Given the description of an element on the screen output the (x, y) to click on. 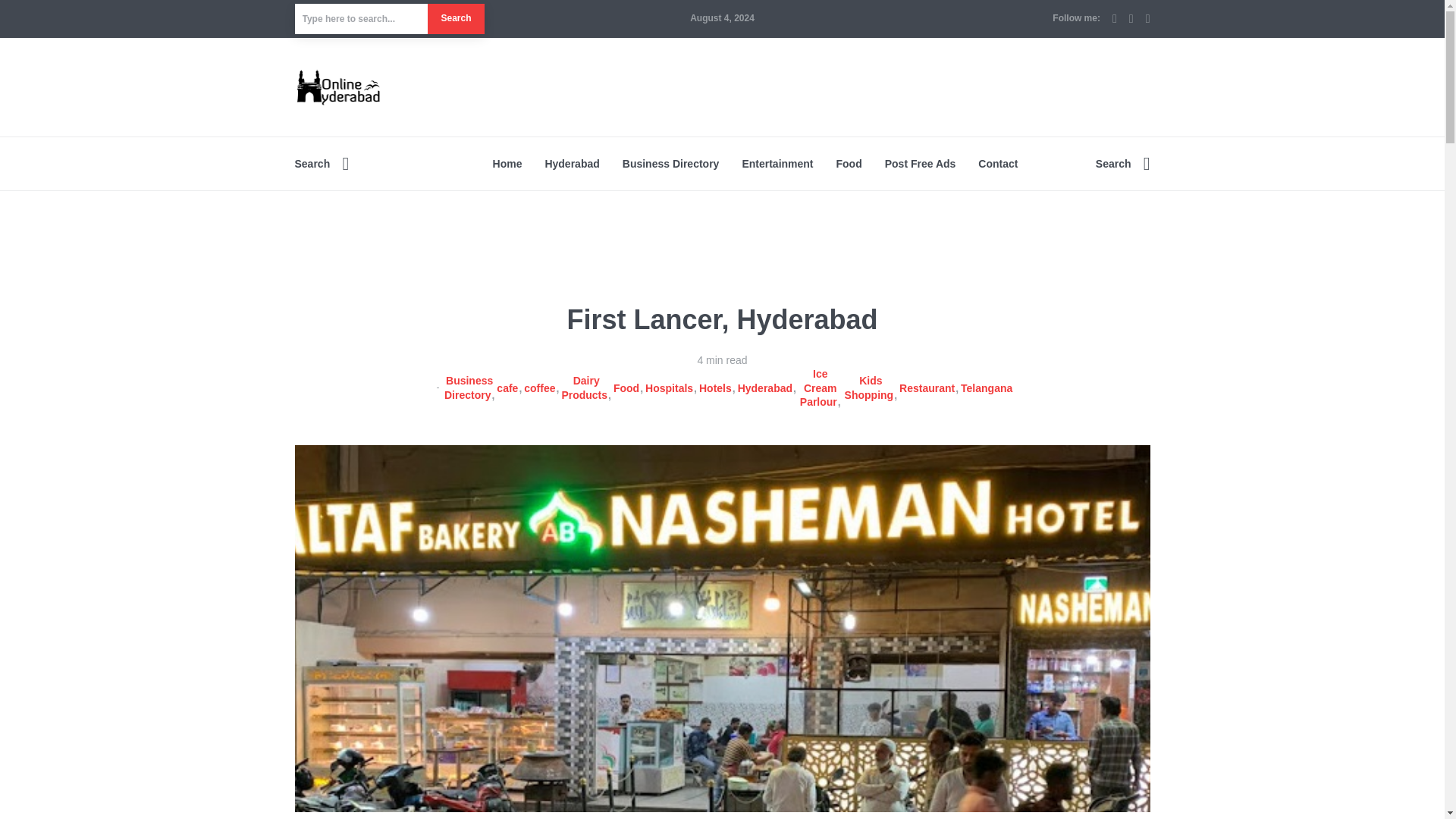
Business Directory (469, 387)
Search (1123, 163)
Hyderabad (571, 163)
Search (321, 163)
Entertainment (776, 163)
Business Directory (671, 163)
Post Free Ads (920, 163)
cafe (508, 387)
Contact (997, 163)
Search (455, 19)
